Given the description of an element on the screen output the (x, y) to click on. 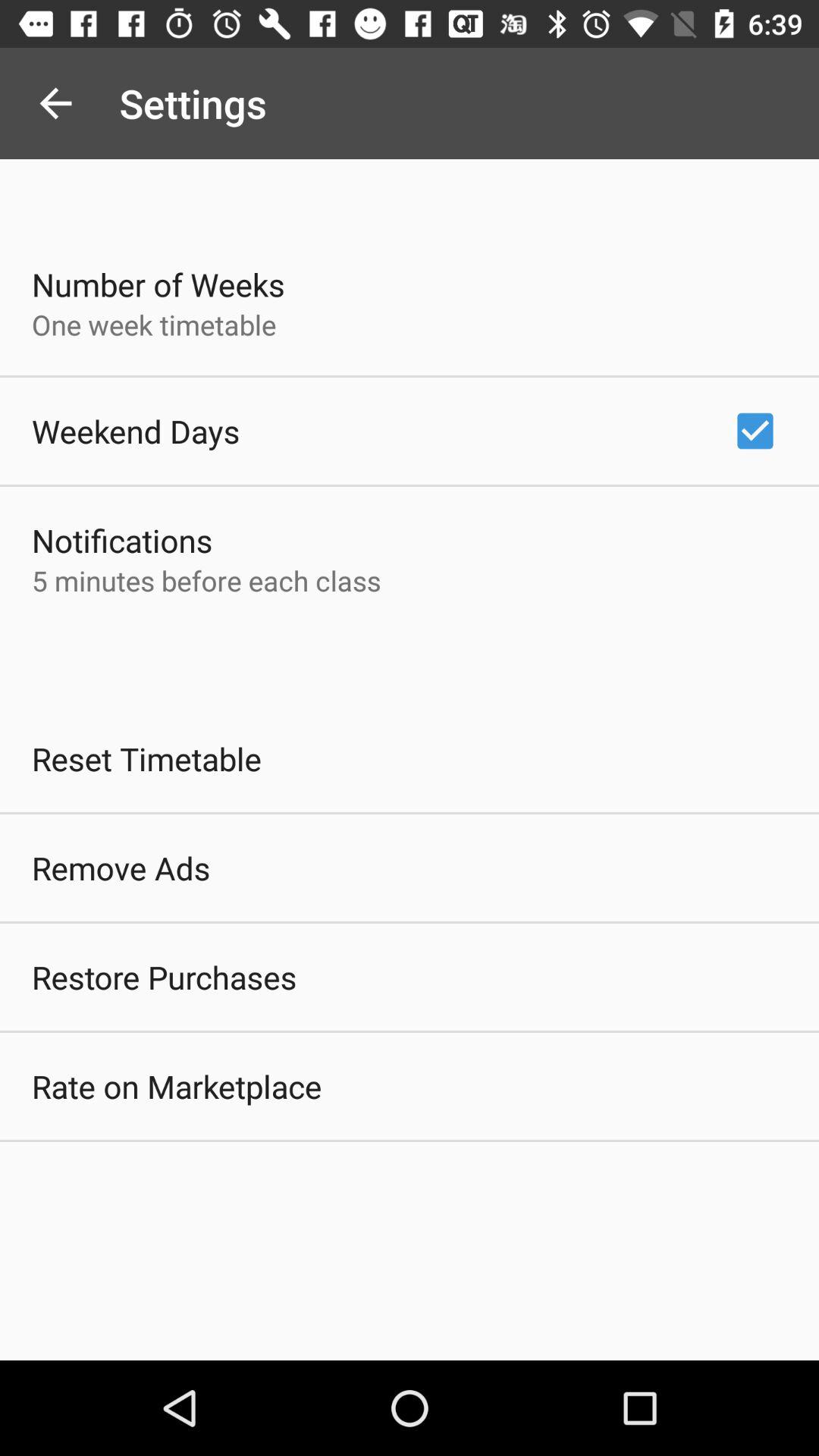
choose app to the right of weekend days (755, 430)
